Given the description of an element on the screen output the (x, y) to click on. 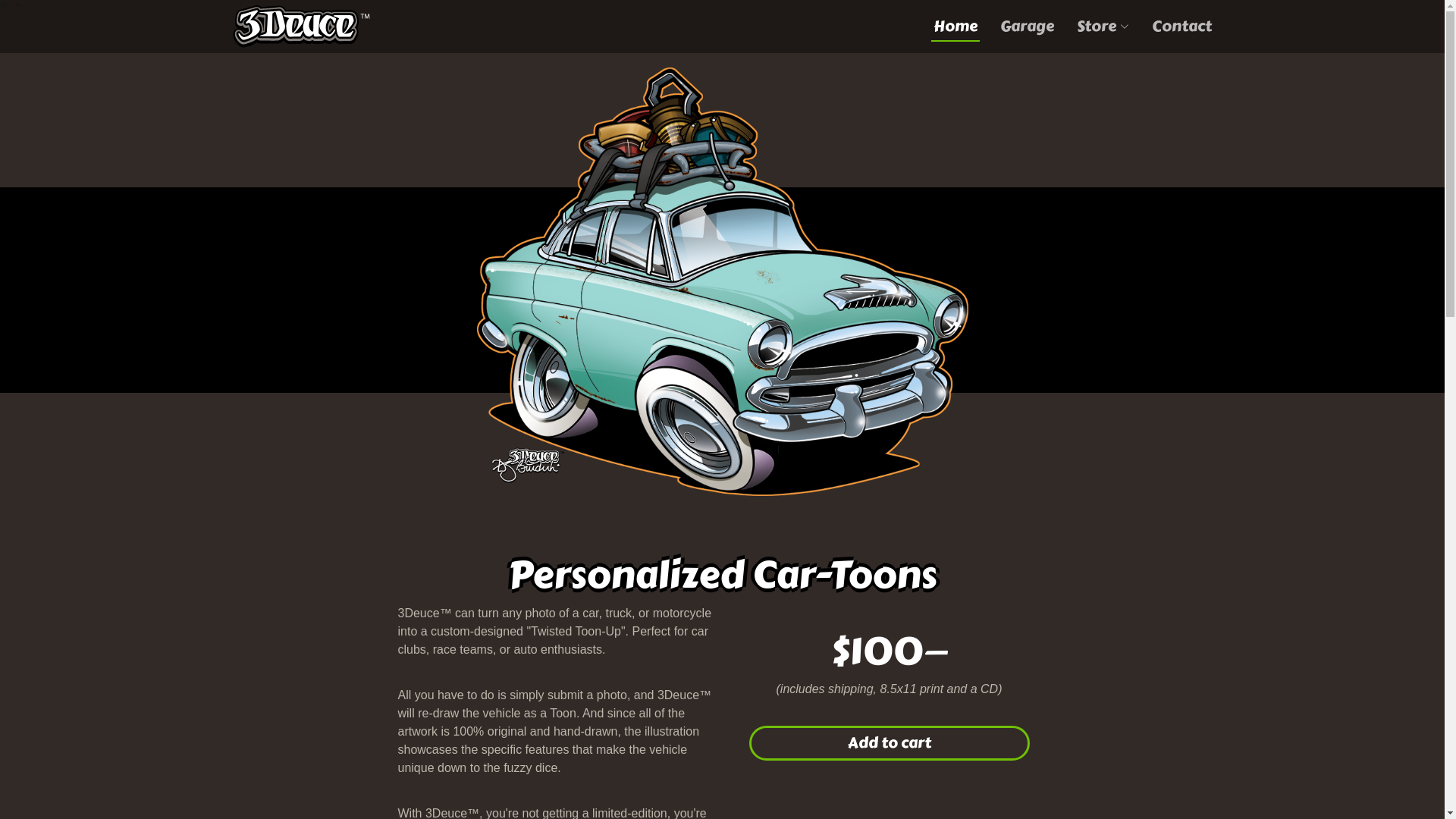
Garage Element type: text (1026, 26)
Contact Element type: text (1181, 26)
Home Element type: text (955, 26)
Add to cart Element type: text (889, 742)
Store Element type: text (1101, 26)
